Given the description of an element on the screen output the (x, y) to click on. 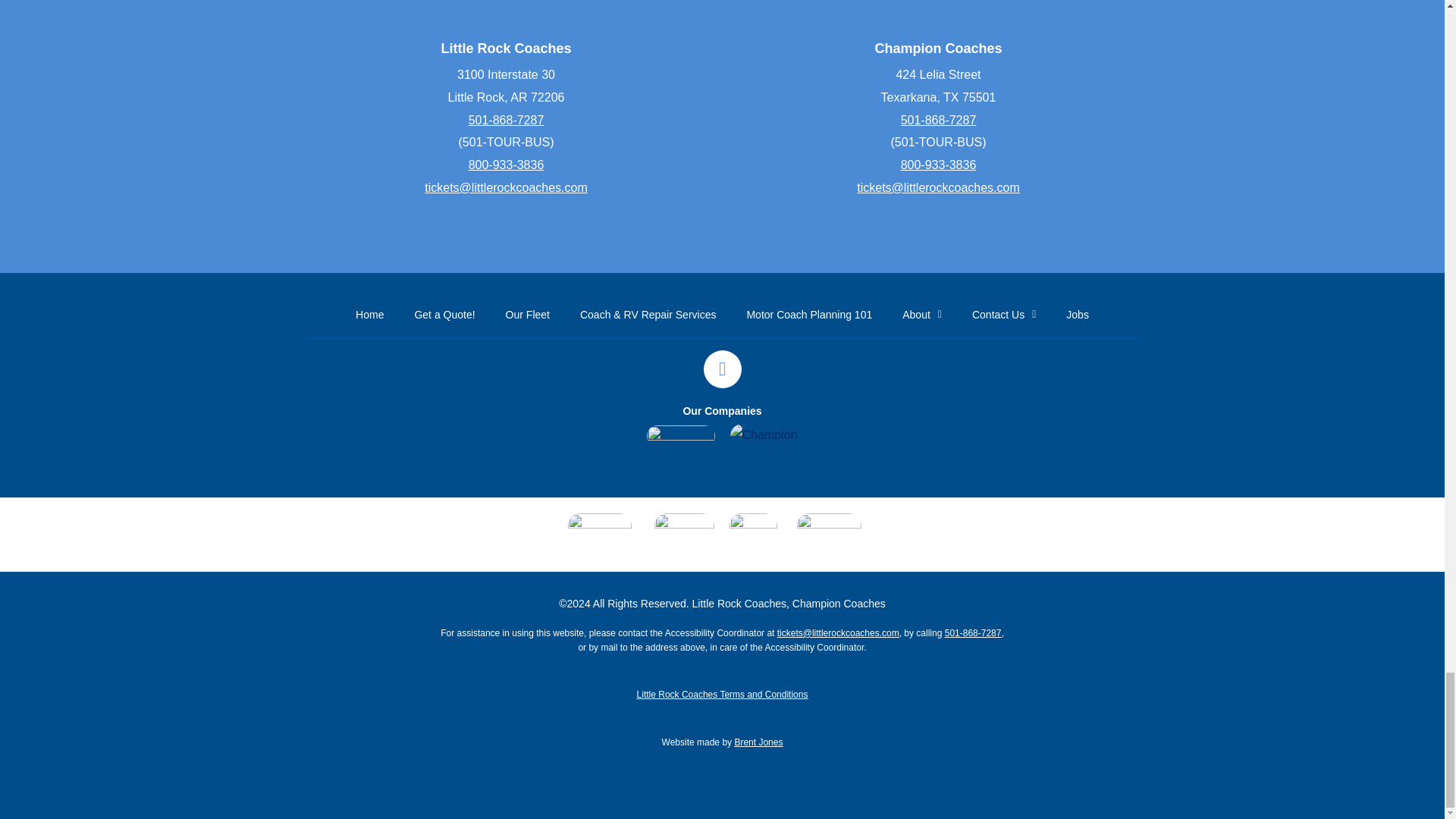
501-868-7287 (938, 119)
501-868-7287 (506, 119)
800-933-3836 (506, 164)
